Given the description of an element on the screen output the (x, y) to click on. 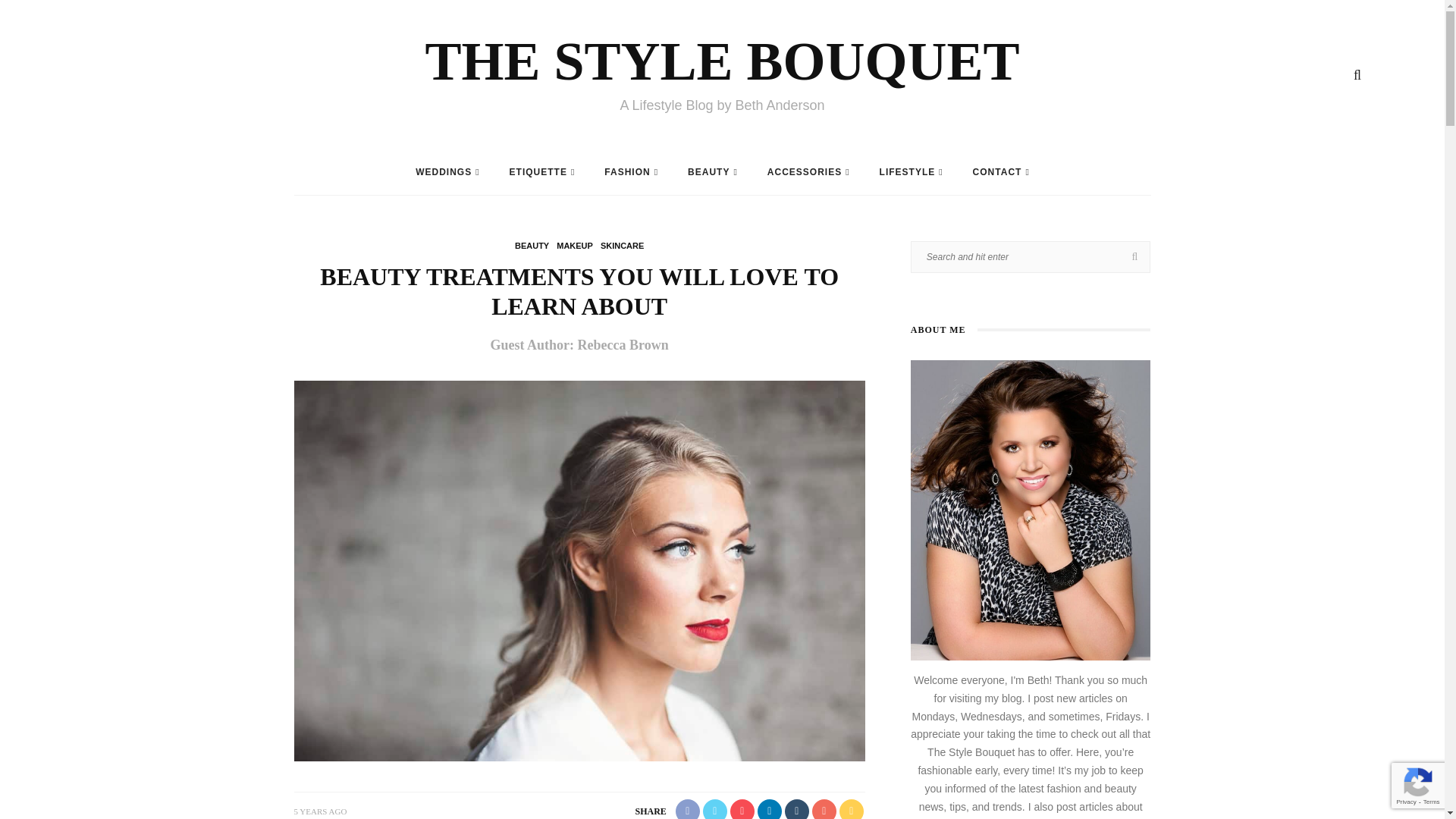
Search for: (1031, 256)
Beauty Treatments You Will Love to Learn About (579, 570)
Search for: (1071, 12)
